Given the description of an element on the screen output the (x, y) to click on. 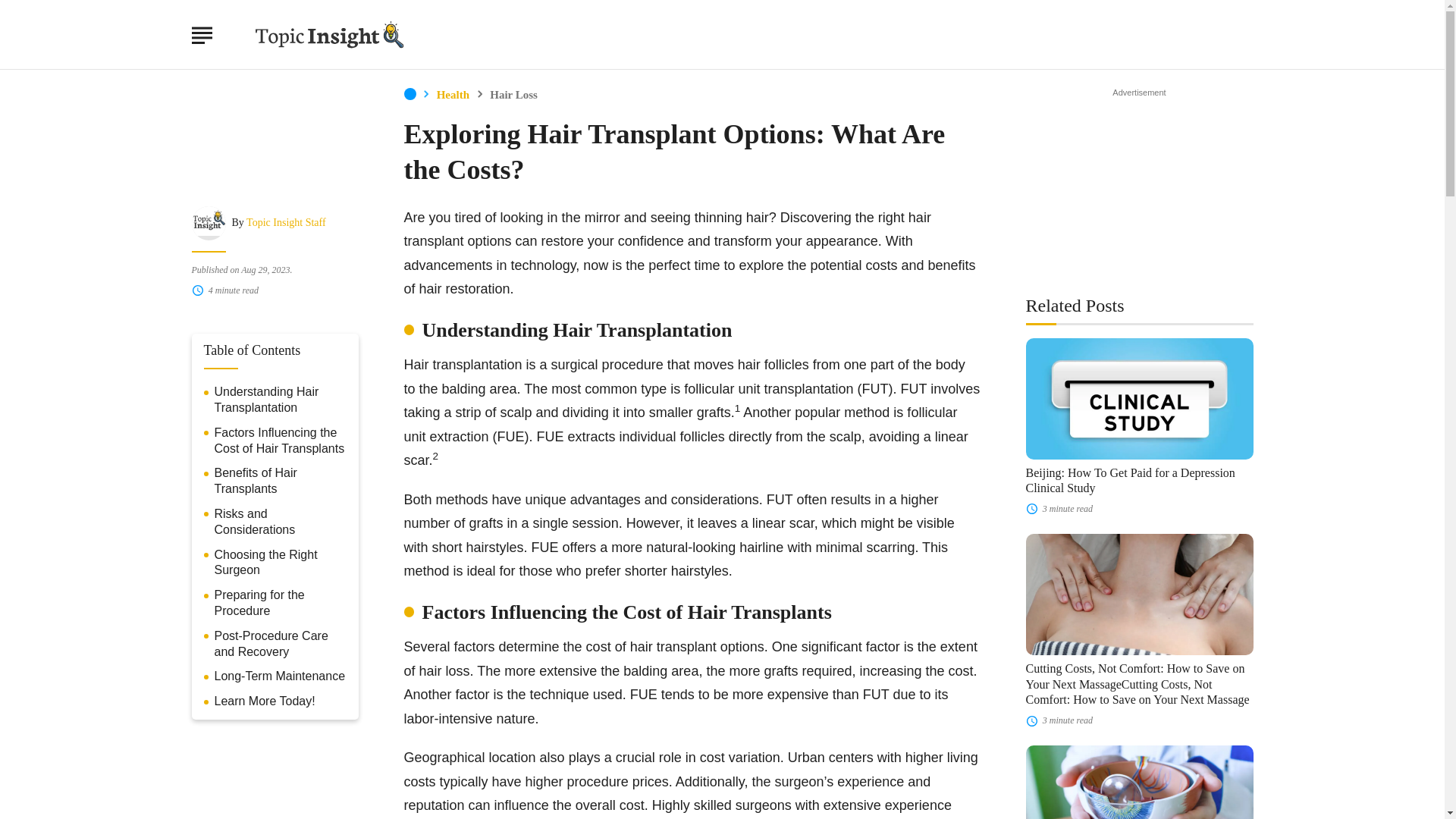
Beijing: How To Get Paid for a Depression Clinical Study (1129, 480)
Risks and Considerations (280, 522)
Hair Loss (513, 94)
Choosing the Right Surgeon (280, 563)
Home (408, 93)
Preparing for the Procedure (280, 603)
Understanding Hair Transplantation (280, 400)
Post-Procedure Care and Recovery (280, 644)
